Given the description of an element on the screen output the (x, y) to click on. 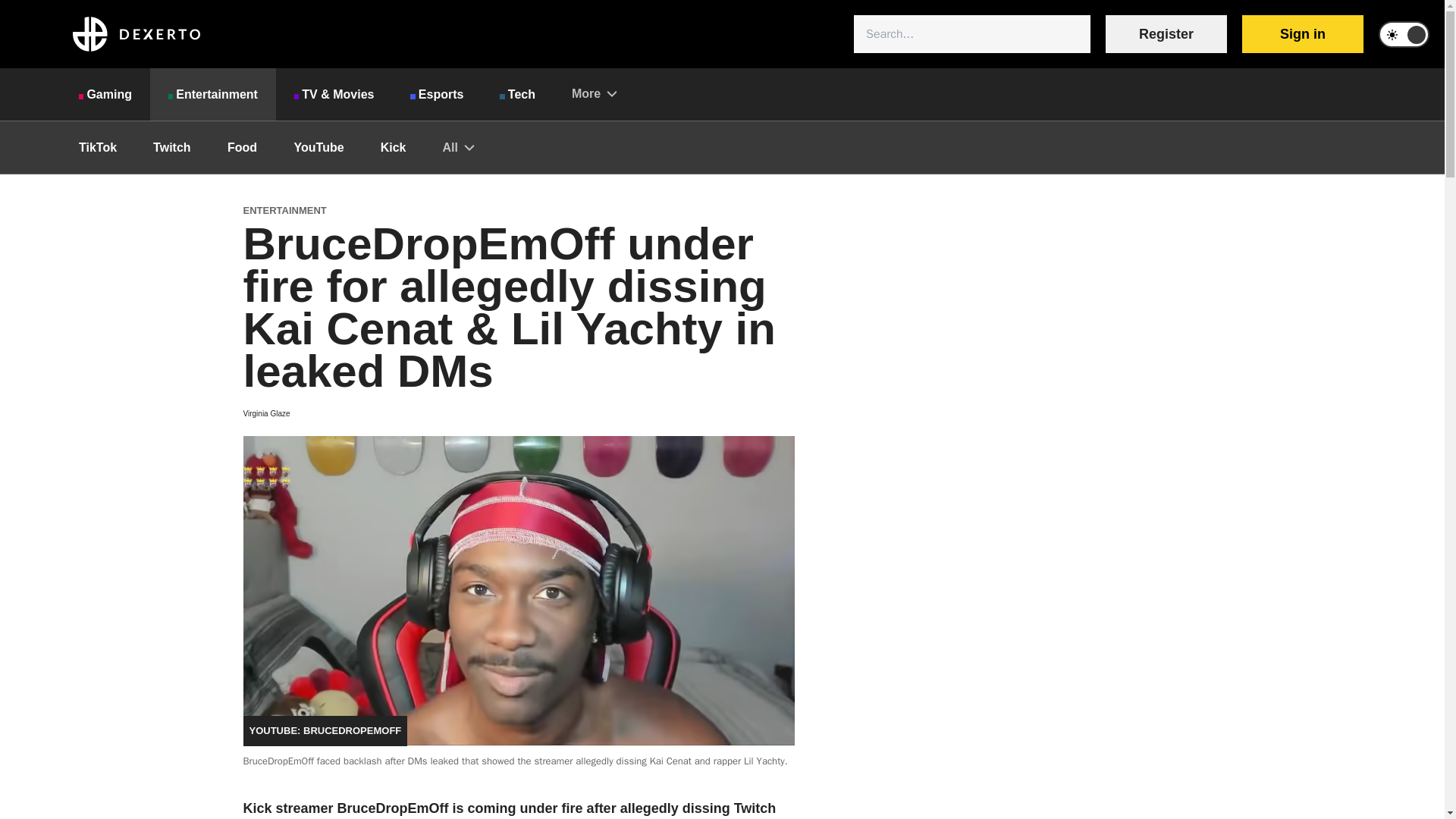
Gaming (105, 93)
All (457, 147)
Food (242, 147)
TikTok (98, 147)
YouTube (319, 147)
Sign in (1301, 34)
Esports (436, 93)
Kick (393, 147)
Register (1166, 34)
More (593, 93)
